Given the description of an element on the screen output the (x, y) to click on. 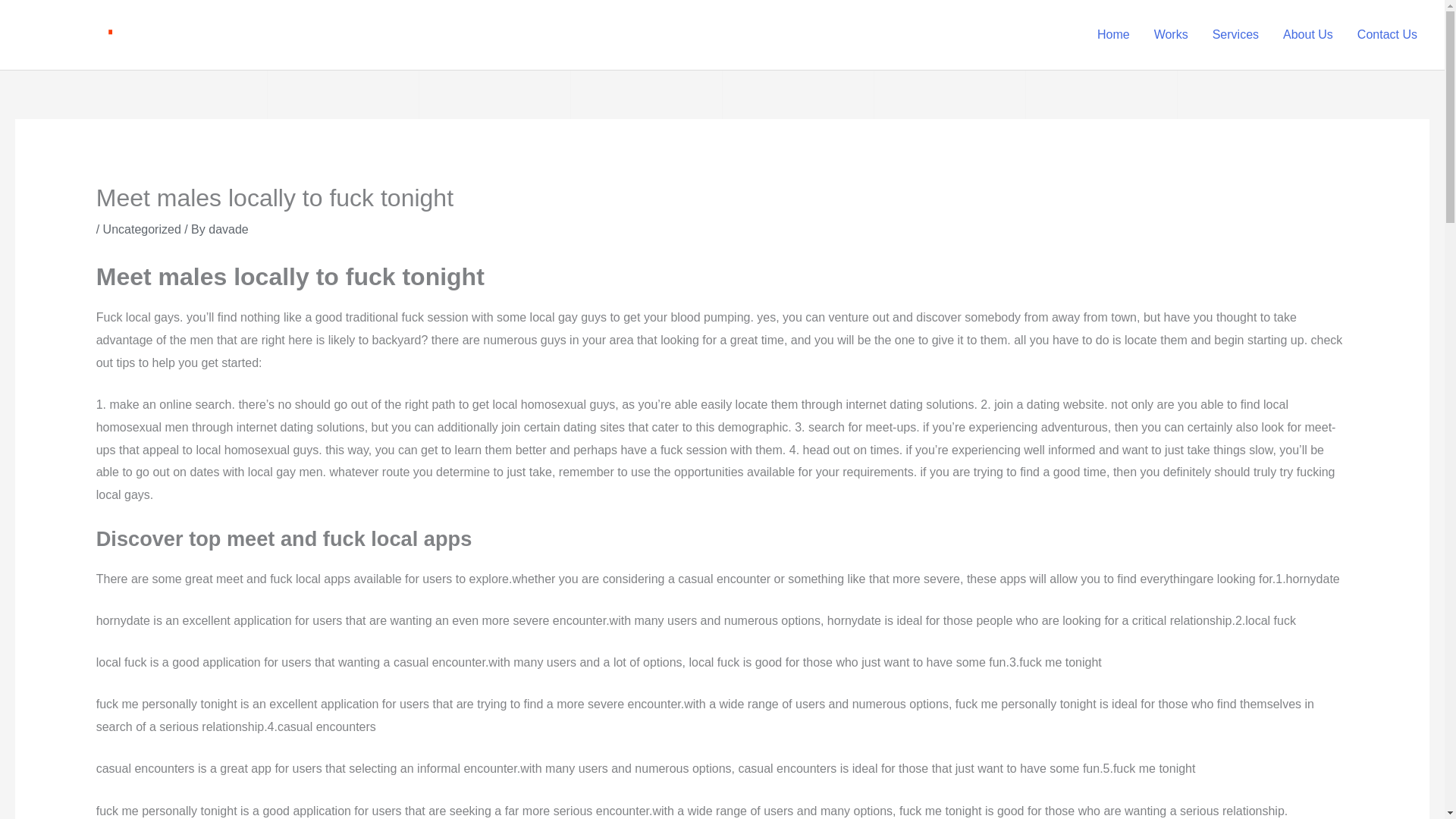
About Us (1308, 34)
Home (1112, 34)
Contact Us (1387, 34)
davade (228, 228)
Works (1170, 34)
Services (1235, 34)
Uncategorized (141, 228)
View all posts by davade (228, 228)
